Given the description of an element on the screen output the (x, y) to click on. 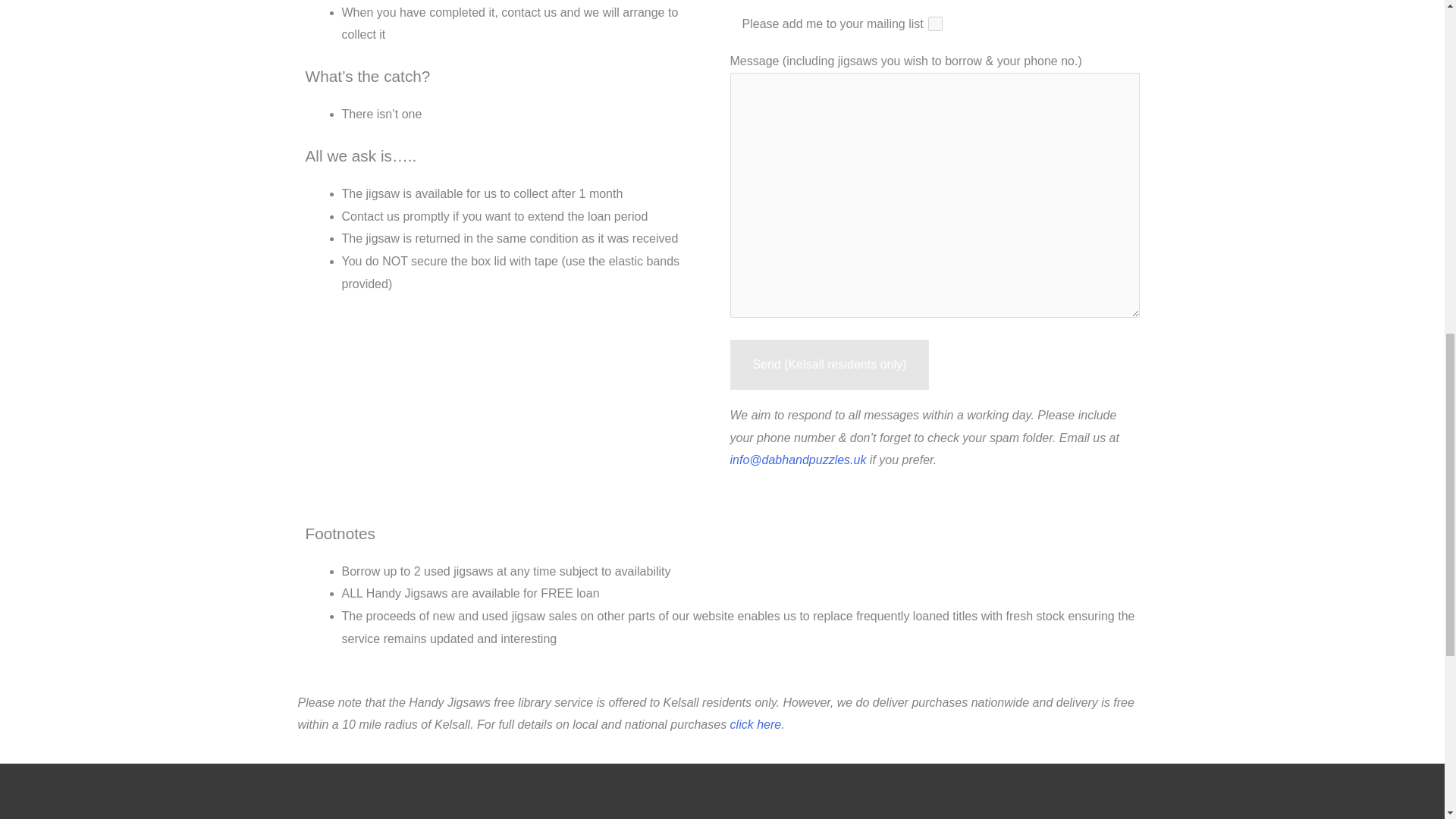
click here (755, 724)
Please add me to your mailing list (934, 23)
